Given the description of an element on the screen output the (x, y) to click on. 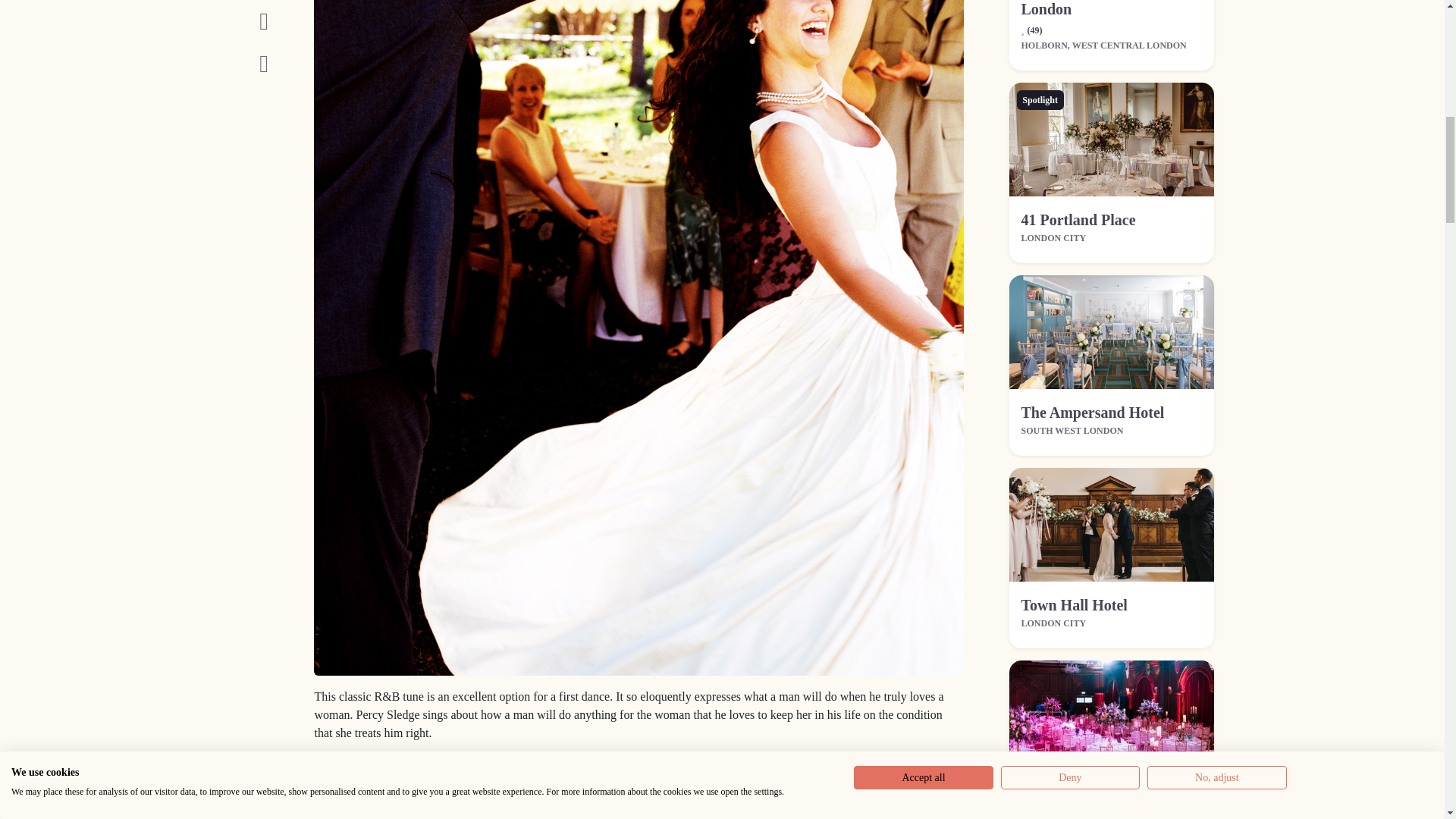
The Ampersand Hotel (1091, 412)
Town Hall Hotel (1073, 605)
View Reviews (1031, 29)
41 Portland Place (1077, 219)
Kimpton Fitzroy Weddings London (1108, 8)
View Profile (1108, 8)
